Given the description of an element on the screen output the (x, y) to click on. 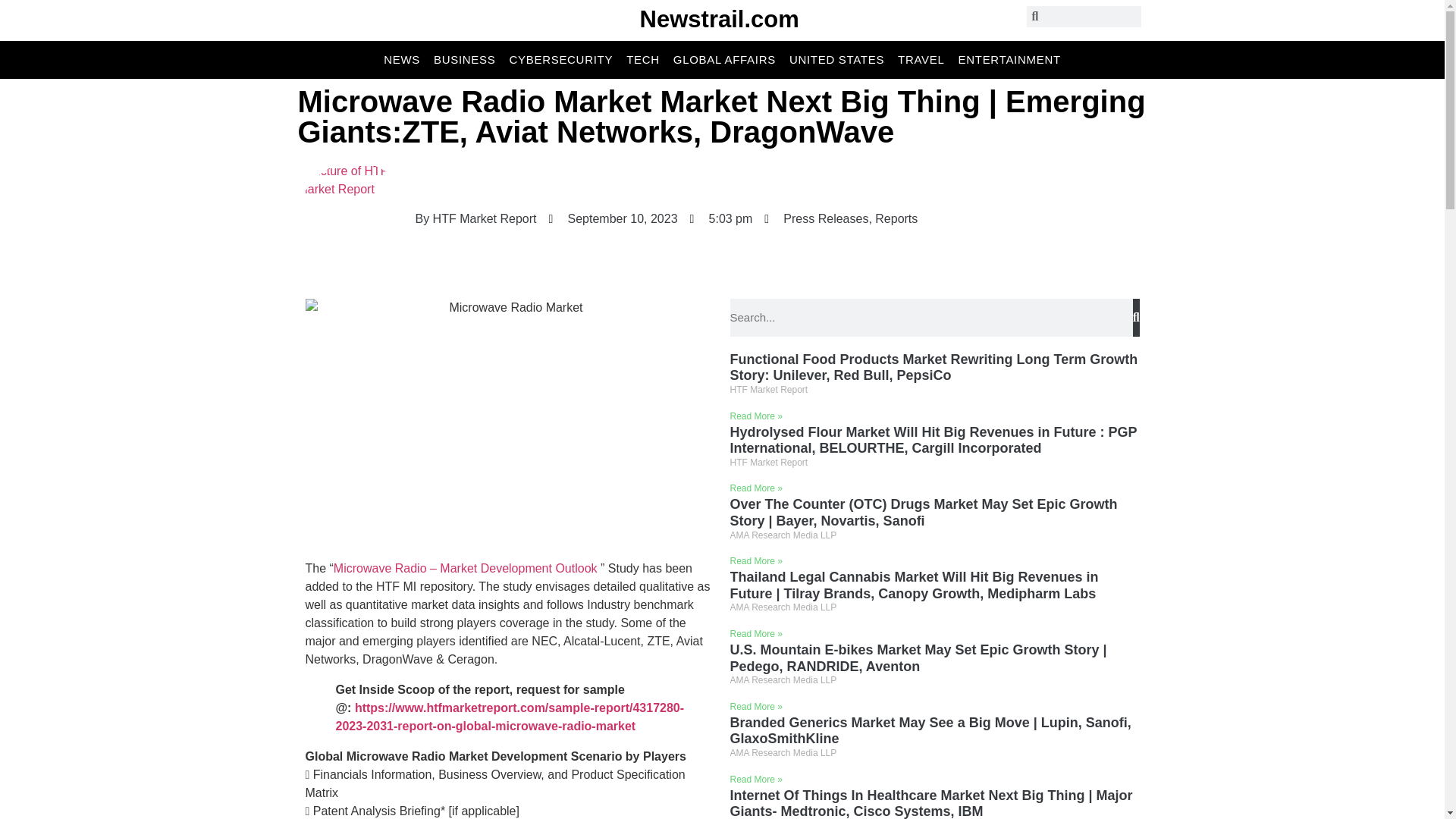
Newstrail.com (719, 18)
BUSINESS (463, 59)
TRAVEL (921, 59)
TECH (642, 59)
GLOBAL AFFAIRS (723, 59)
CYBERSECURITY (560, 59)
UNITED STATES (836, 59)
ENTERTAINMENT (1009, 59)
Microwave Radio Market (509, 421)
NEWS (401, 59)
